Given the description of an element on the screen output the (x, y) to click on. 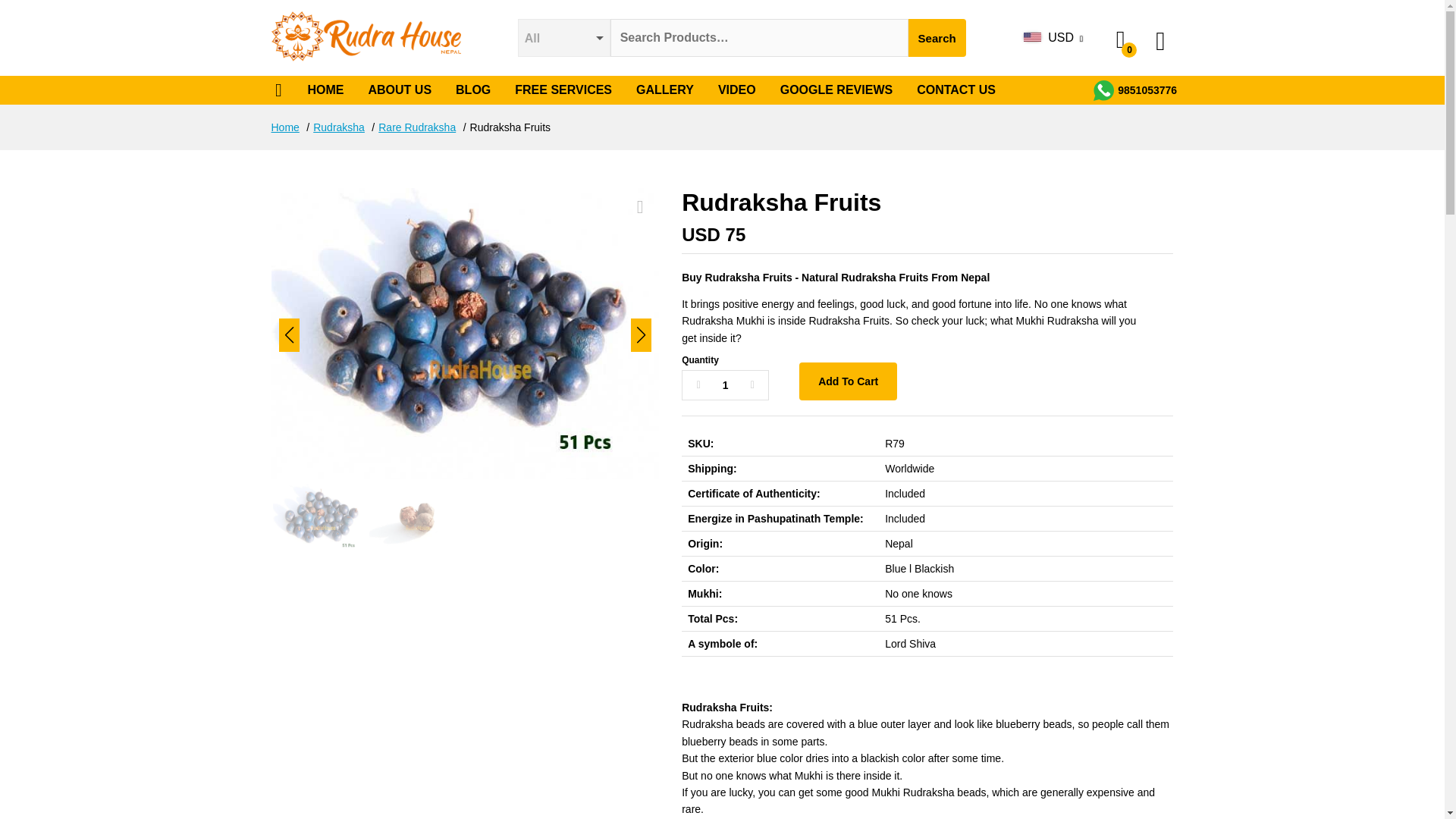
Search (937, 37)
1 (724, 385)
